Given the description of an element on the screen output the (x, y) to click on. 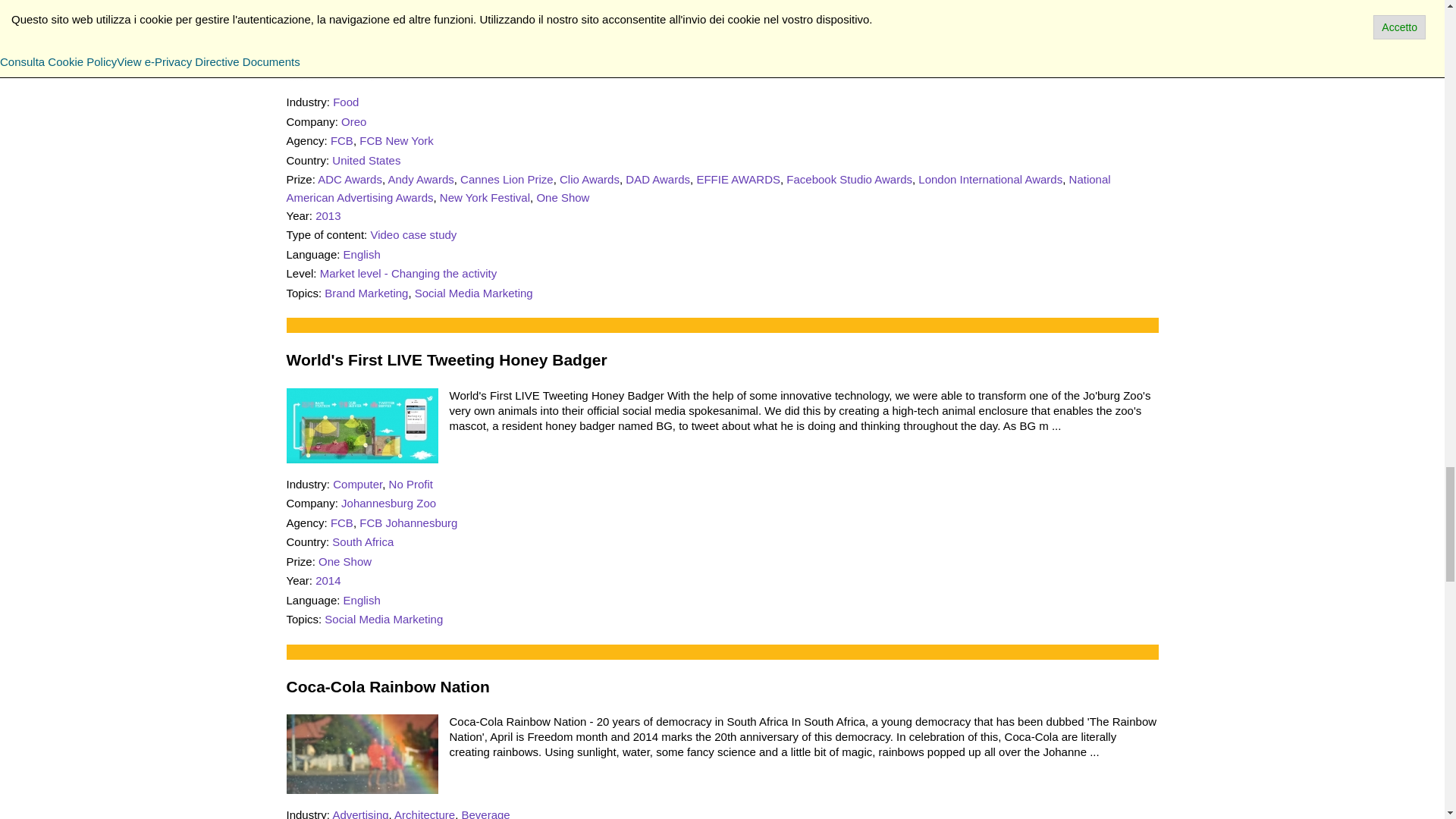
World's First LIVE Tweeting Honey Badger (362, 423)
Oreo Daily Twist (362, 37)
Coca-Cola Rainbow Nation (362, 753)
